Given the description of an element on the screen output the (x, y) to click on. 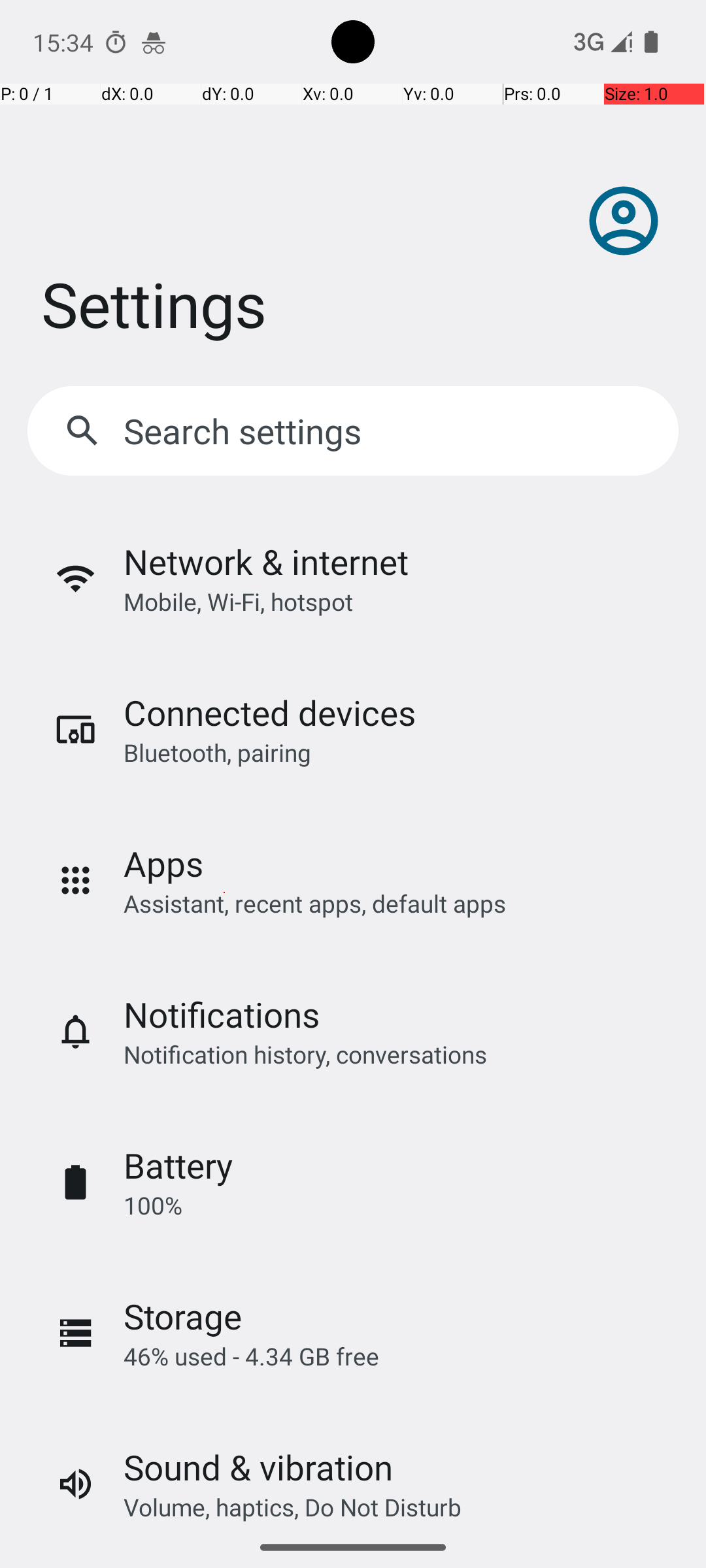
46% used - 4.34 GB free Element type: android.widget.TextView (251, 1355)
